Given the description of an element on the screen output the (x, y) to click on. 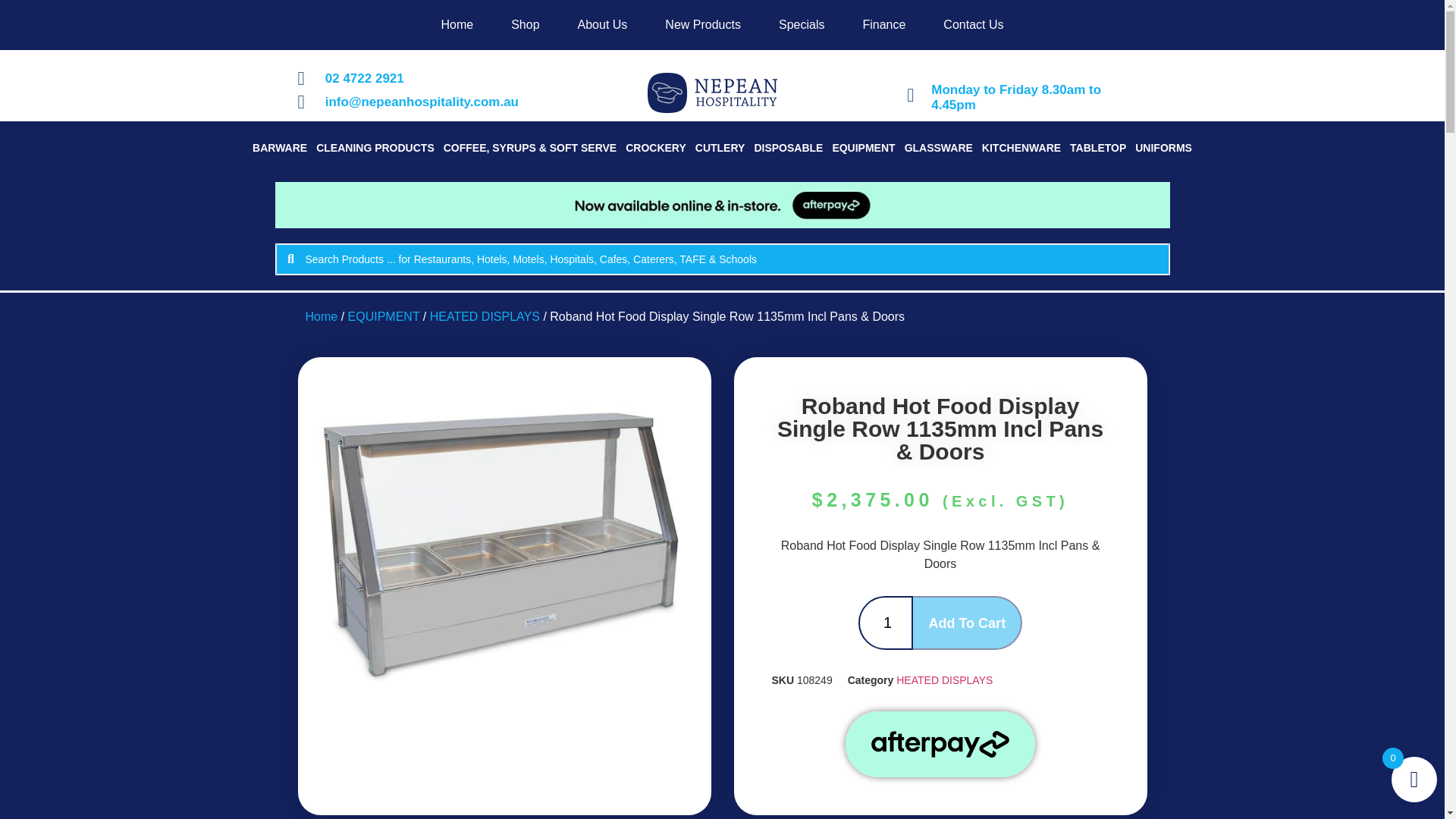
GLASSWARE (937, 147)
About Us (602, 24)
images (504, 553)
Home (457, 24)
Contact Us (973, 24)
Shop (524, 24)
CUTLERY (719, 147)
CROCKERY (655, 147)
02 4722 2921 (433, 78)
KITCHENWARE (1020, 147)
